Given the description of an element on the screen output the (x, y) to click on. 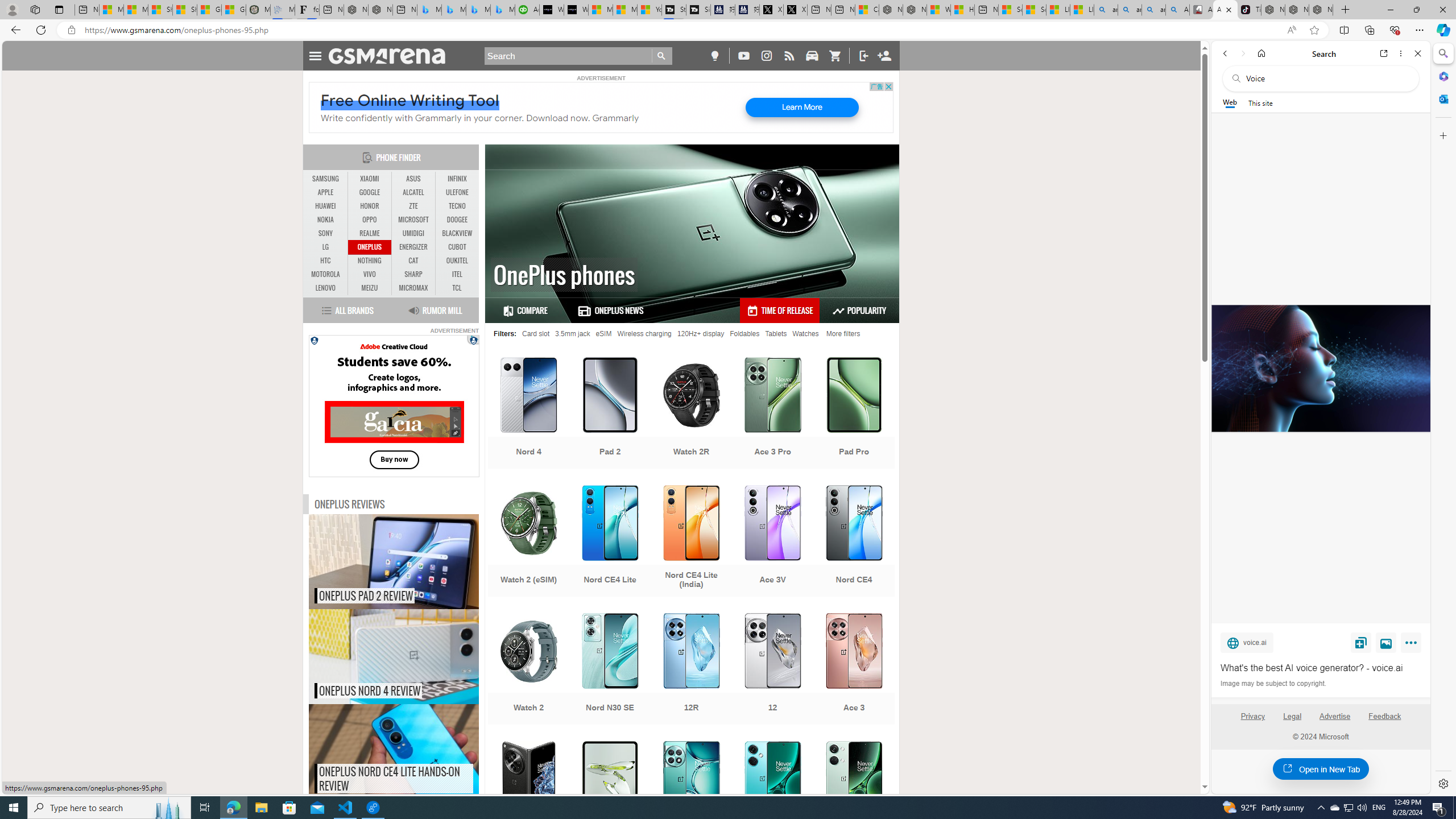
TECNO (457, 206)
12R (691, 670)
SONY (325, 233)
Wireless charging (644, 333)
LG (325, 246)
NOKIA (325, 219)
SONY (325, 233)
